Given the description of an element on the screen output the (x, y) to click on. 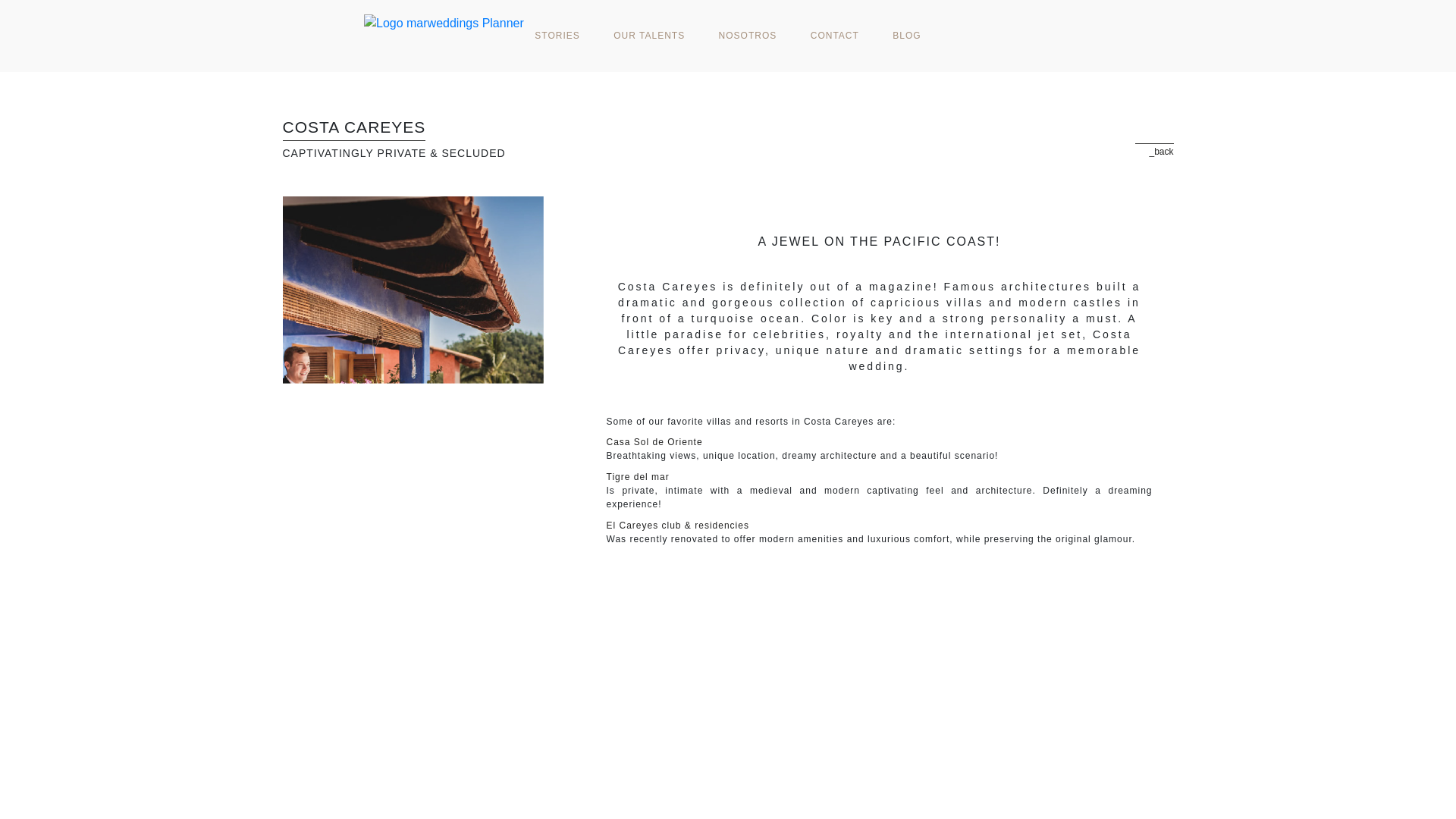
Tigre del mar (880, 477)
NOSOTROS (747, 35)
CONTACT (834, 35)
STORIES (556, 35)
OUR TALENTS (649, 35)
Casa Sol de Oriente (880, 441)
